Given the description of an element on the screen output the (x, y) to click on. 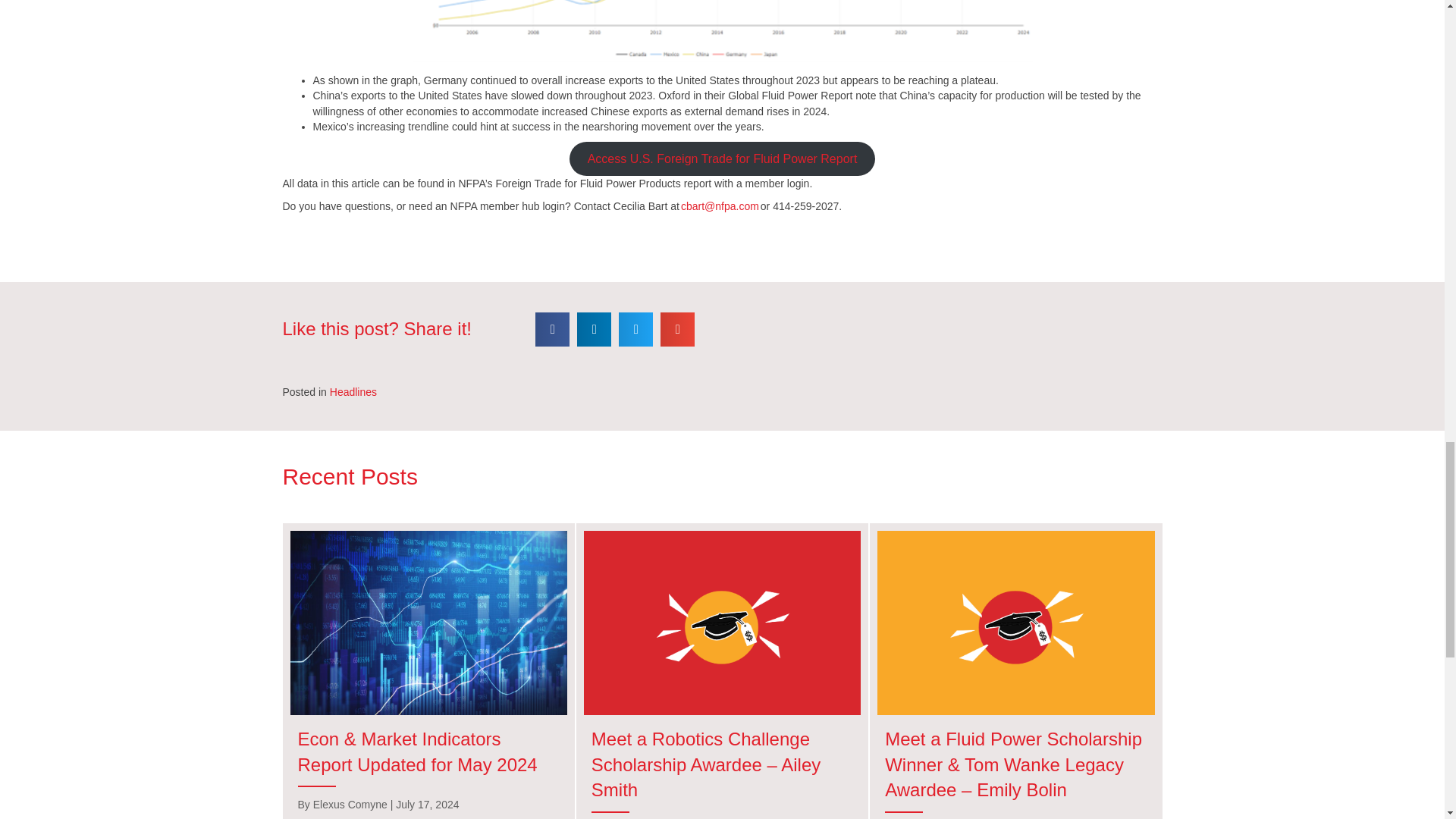
Access U.S. Foreign Trade for Fluid Power Report (722, 158)
